Given the description of an element on the screen output the (x, y) to click on. 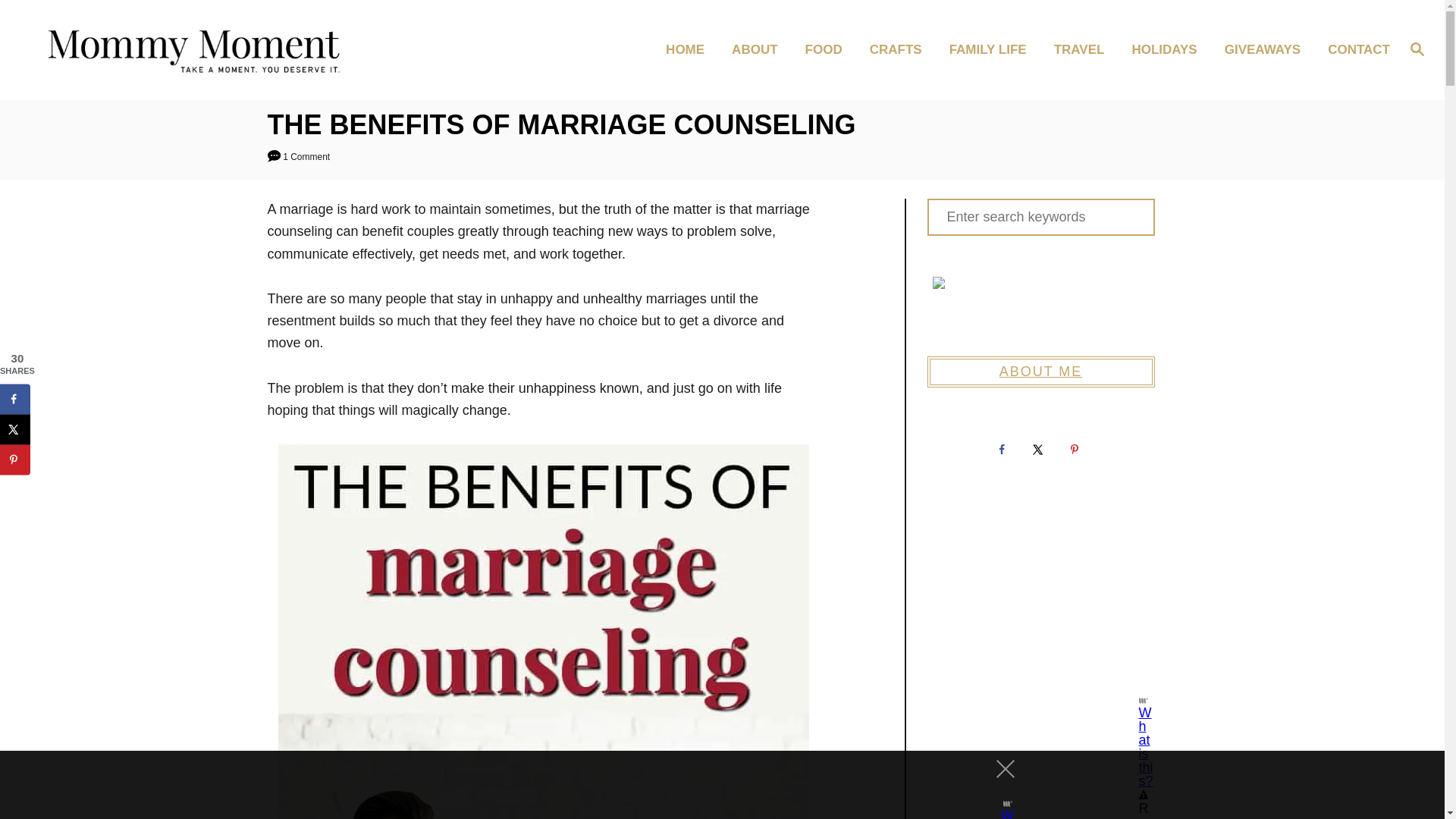
Search for: (1040, 217)
HOLIDAYS (1168, 49)
Magnifying Glass (1416, 48)
HOME (689, 49)
FOOD (828, 49)
Follow on Facebook (1003, 449)
GIVEAWAYS (1267, 49)
Follow on Pinterest (1076, 449)
FAMILY LIFE (992, 49)
TRAVEL (1083, 49)
Follow on X (1040, 449)
Mommy Moment (204, 49)
ABOUT (758, 49)
CRAFTS (900, 49)
